Given the description of an element on the screen output the (x, y) to click on. 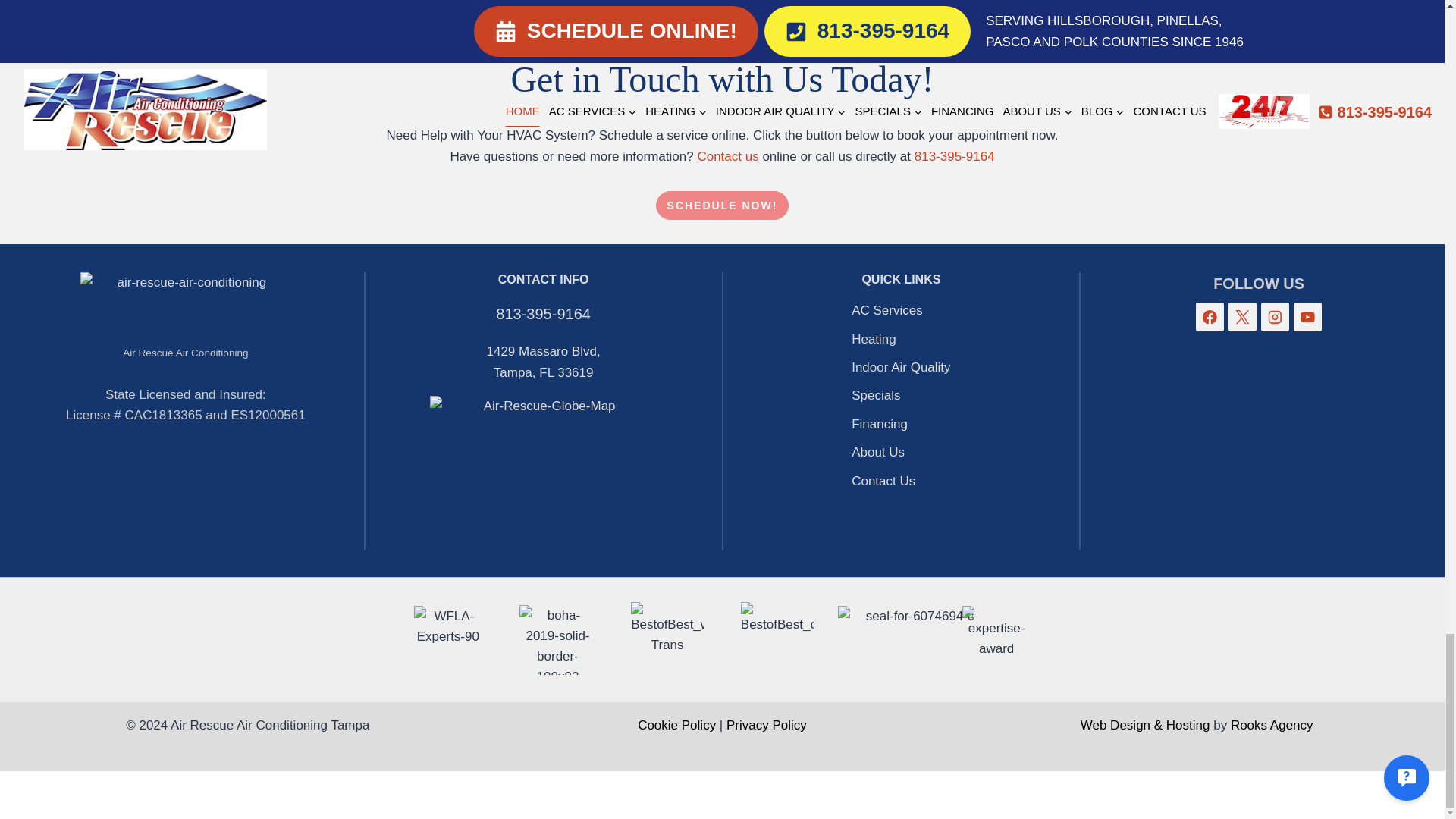
Rooks Agency Web Design (1271, 725)
Tampa-Sarasota Web Design (1144, 725)
